Given the description of an element on the screen output the (x, y) to click on. 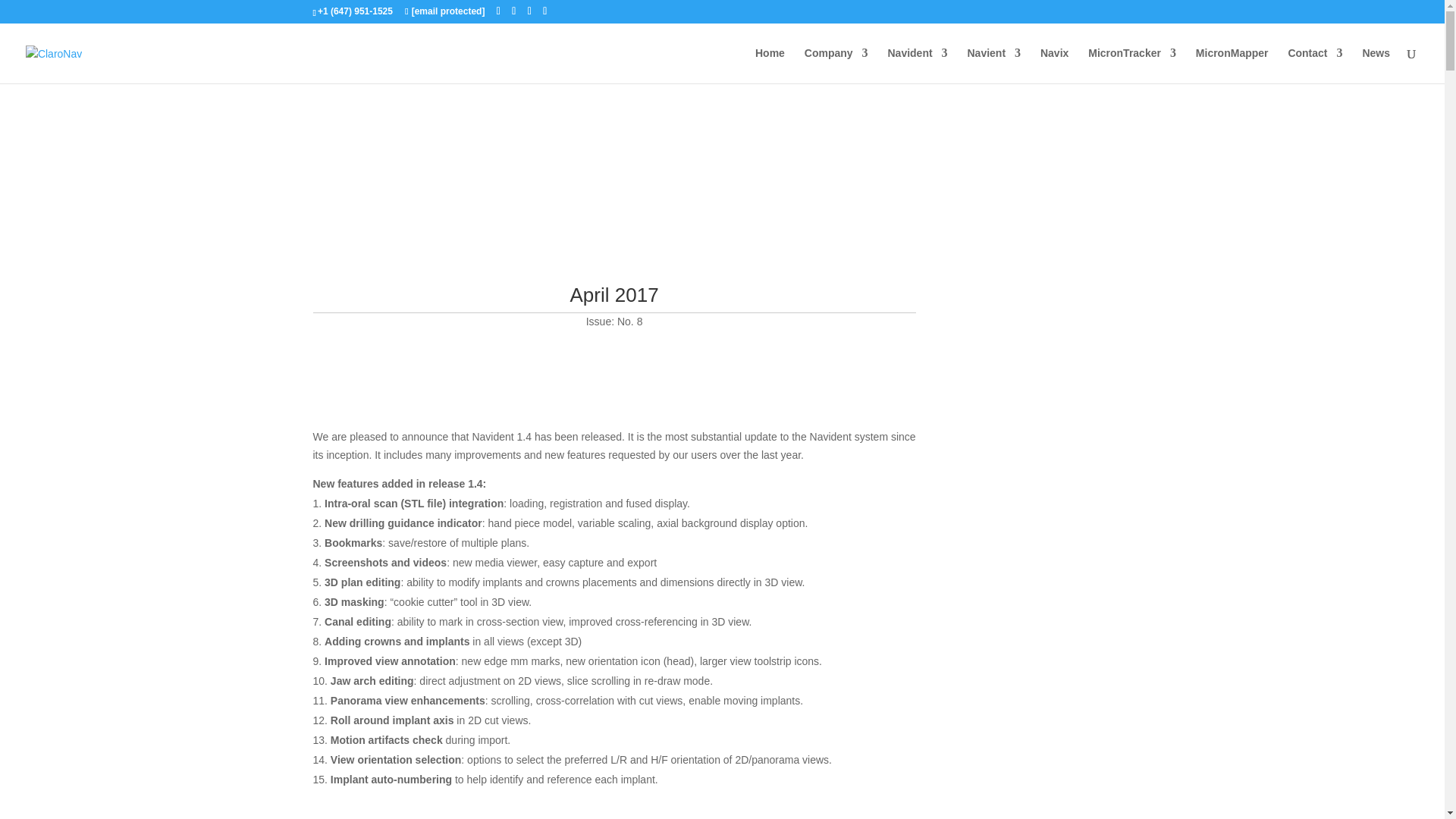
Company (836, 65)
Navident (916, 65)
Navient (995, 65)
MicronTracker (1131, 65)
